Given the description of an element on the screen output the (x, y) to click on. 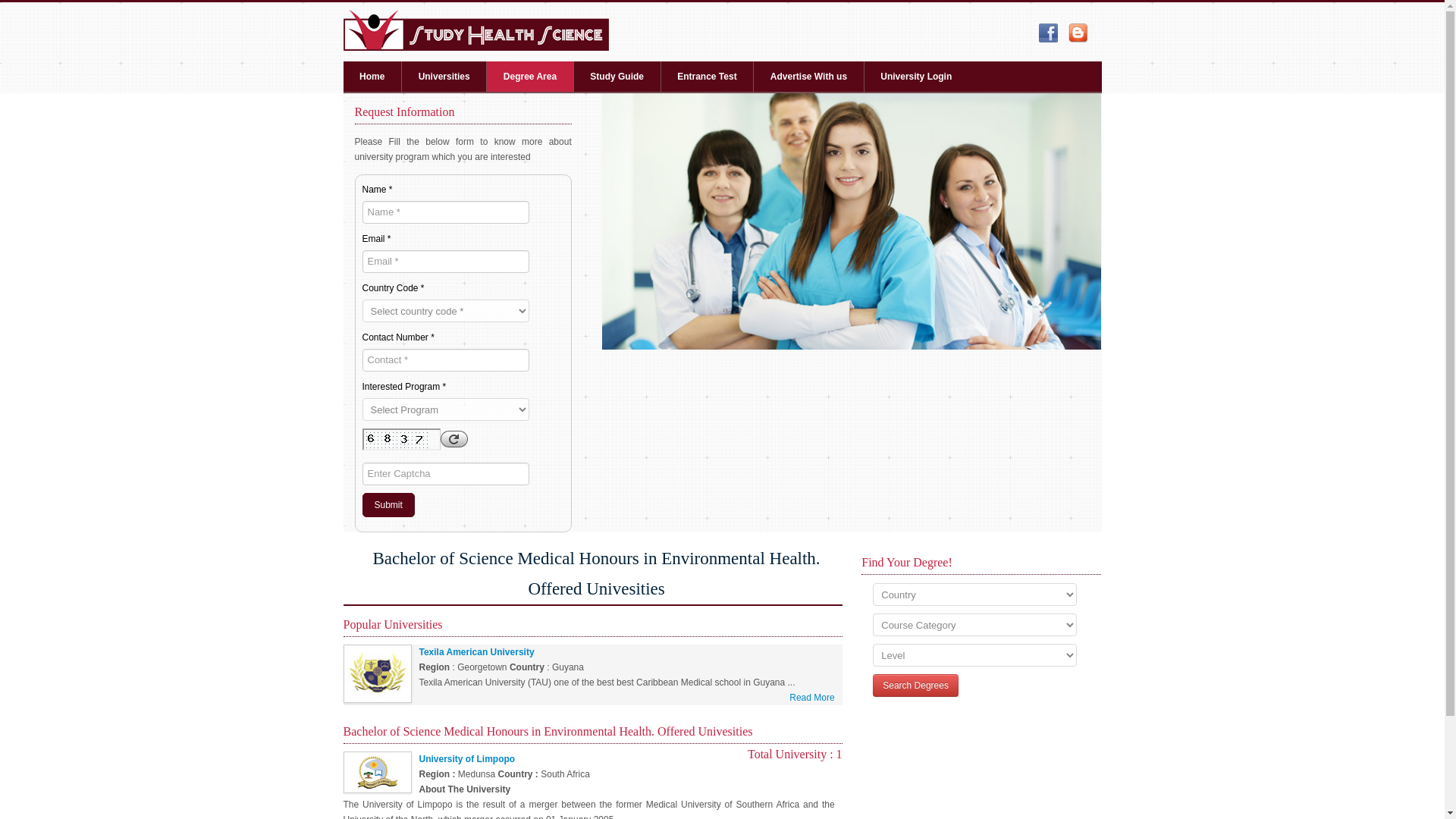
Degree Area (529, 76)
Read More (811, 697)
Study Guide (617, 76)
Submit (388, 504)
Follow us on Facebook (1048, 32)
Universities (443, 76)
Search Degrees (915, 685)
University of Limpopo (467, 758)
University Login (916, 76)
Search Degrees (915, 685)
Entrance Test (707, 76)
Home (371, 76)
Advertise With us (808, 76)
Follow us on Blogger (1077, 32)
Texila American University (476, 652)
